Given the description of an element on the screen output the (x, y) to click on. 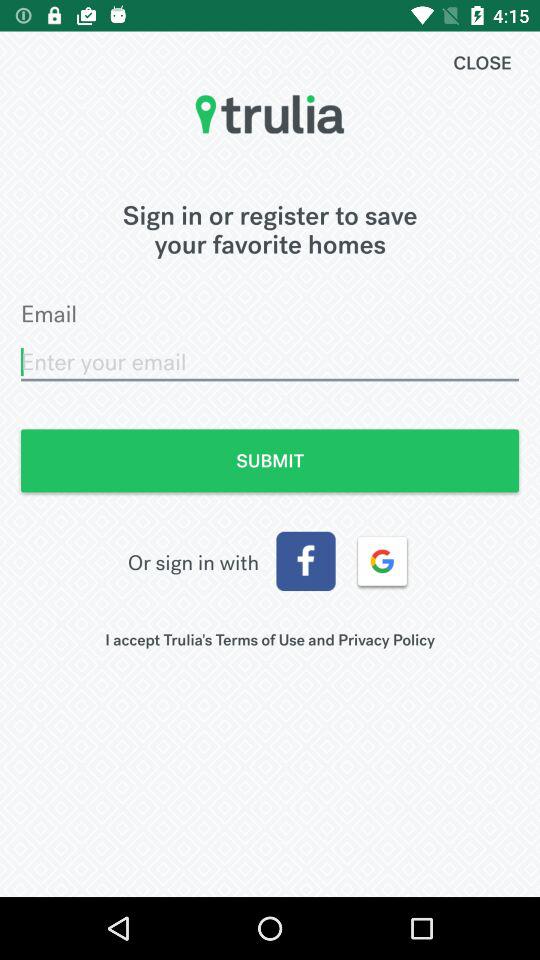
open item below submit item (382, 561)
